Given the description of an element on the screen output the (x, y) to click on. 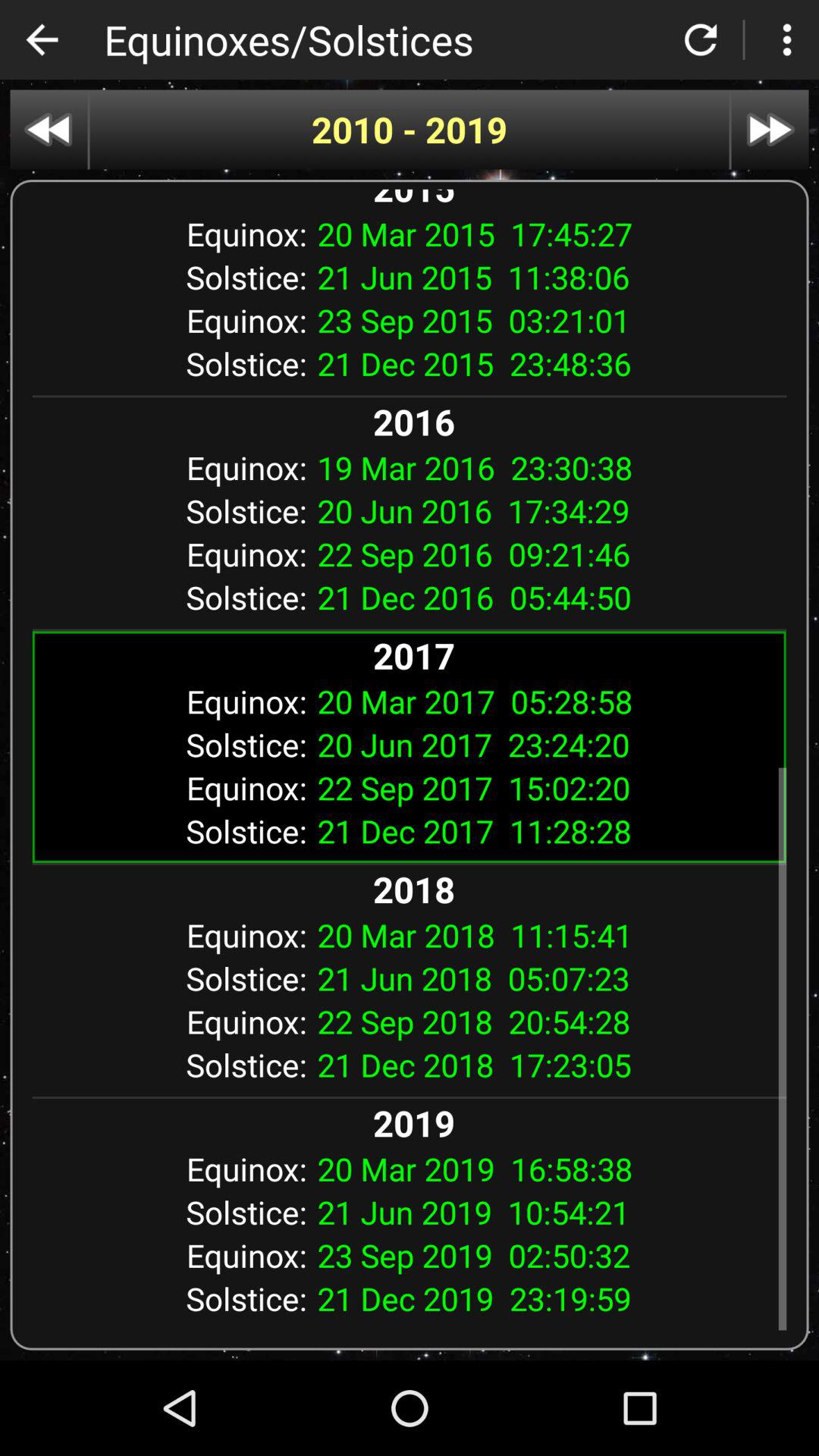
click item above the 2015 icon (769, 129)
